Given the description of an element on the screen output the (x, y) to click on. 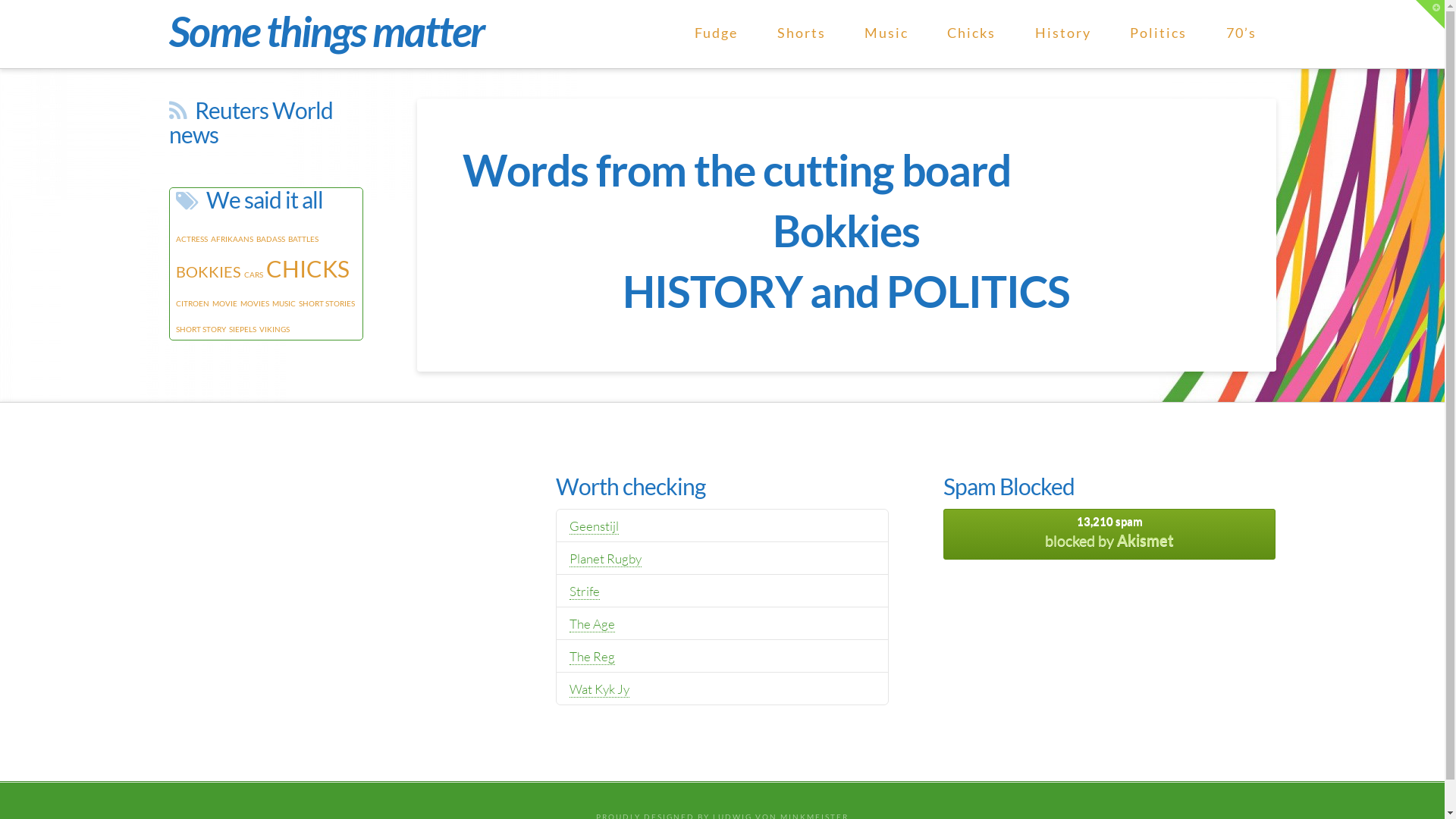
Planet Rugby Element type: text (605, 558)
CITROEN Element type: text (192, 302)
Politics Element type: text (1158, 34)
CARS Element type: text (253, 274)
Geenstijl Element type: text (593, 525)
Some things matter Element type: text (325, 30)
SHORT STORY Element type: text (200, 328)
ACTRESS Element type: text (191, 238)
MOVIES Element type: text (253, 302)
AFRIKAANS Element type: text (231, 238)
History Element type: text (1062, 34)
BADASS Element type: text (270, 238)
Fudge Element type: text (715, 34)
BOKKIES Element type: text (208, 271)
13,210 spam
blocked by Akismet Element type: text (1109, 533)
MUSIC Element type: text (282, 302)
Chicks Element type: text (971, 34)
Music Element type: text (885, 34)
CHICKS Element type: text (306, 268)
VIKINGS Element type: text (274, 328)
SIEPELS Element type: text (242, 328)
BATTLES Element type: text (303, 238)
Reuters World news Element type: text (250, 121)
The Age Element type: text (592, 623)
Shorts Element type: text (800, 34)
SHORT STORIES Element type: text (326, 302)
Toggle the Widgetbar Element type: text (1429, 14)
The Reg Element type: text (592, 656)
Wat Kyk Jy Element type: text (599, 688)
MOVIE Element type: text (224, 302)
Strife Element type: text (584, 591)
